Given the description of an element on the screen output the (x, y) to click on. 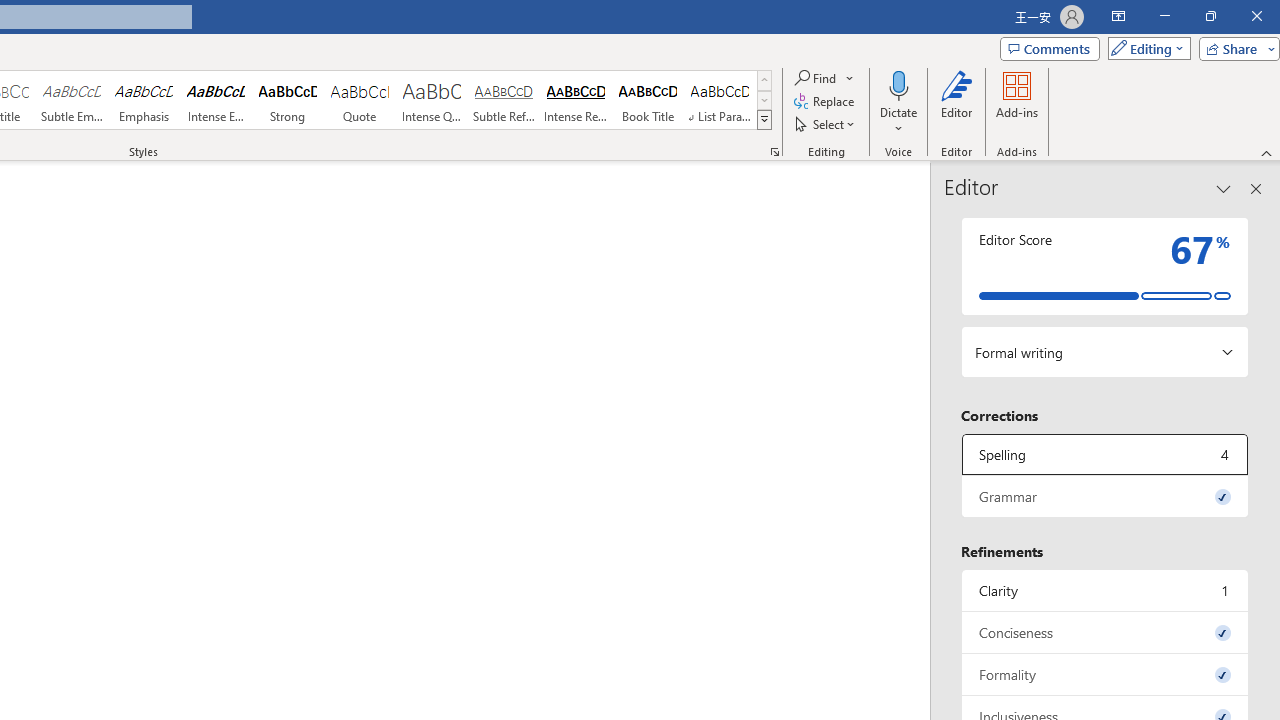
Emphasis (143, 100)
Book Title (647, 100)
Intense Reference (575, 100)
Clarity, 1 issue. Press space or enter to review items. (1105, 590)
Intense Emphasis (216, 100)
